Given the description of an element on the screen output the (x, y) to click on. 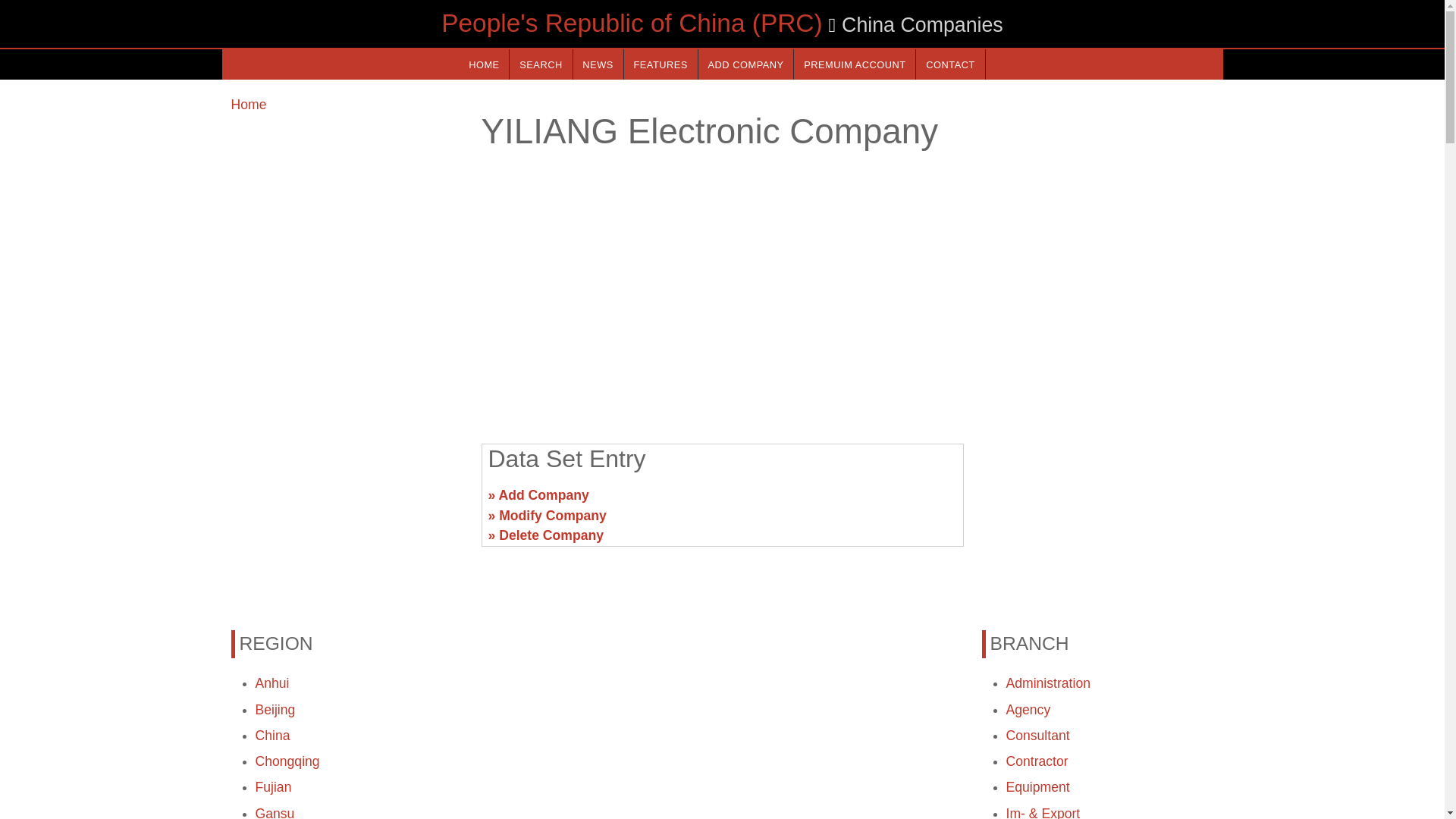
ADD COMPANY (745, 64)
Chongqing (286, 761)
Anhui (271, 683)
Search in this webseite. (540, 64)
Premium account (854, 64)
Beijing (274, 709)
Add a new company (745, 64)
CONTACT (949, 64)
Gansu (274, 812)
HOME (483, 64)
NEWS (598, 64)
PREMUIM ACCOUNT (854, 64)
Home (248, 104)
FEATURES (660, 64)
